Given the description of an element on the screen output the (x, y) to click on. 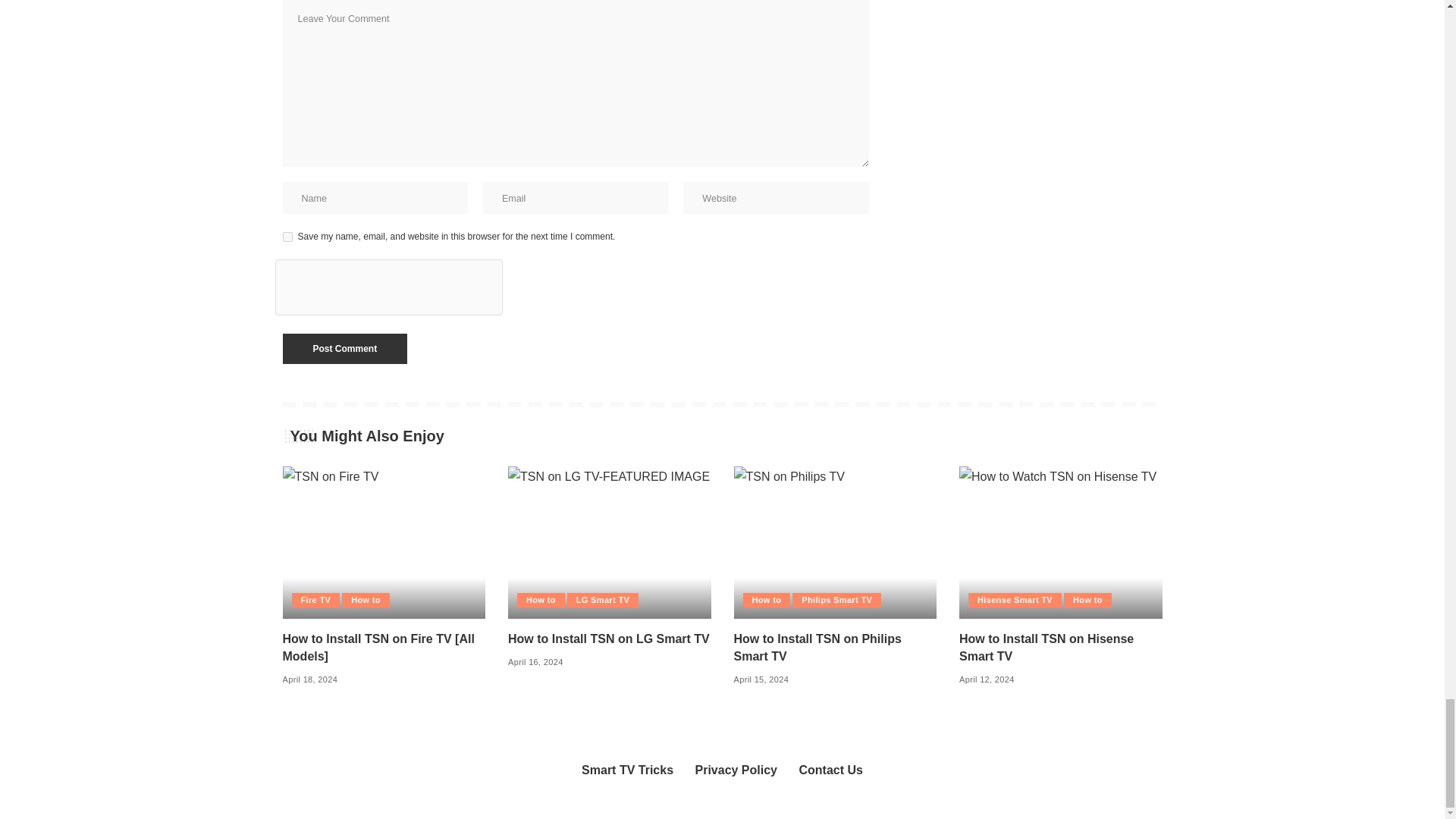
yes (287, 236)
Post Comment (344, 348)
